Given the description of an element on the screen output the (x, y) to click on. 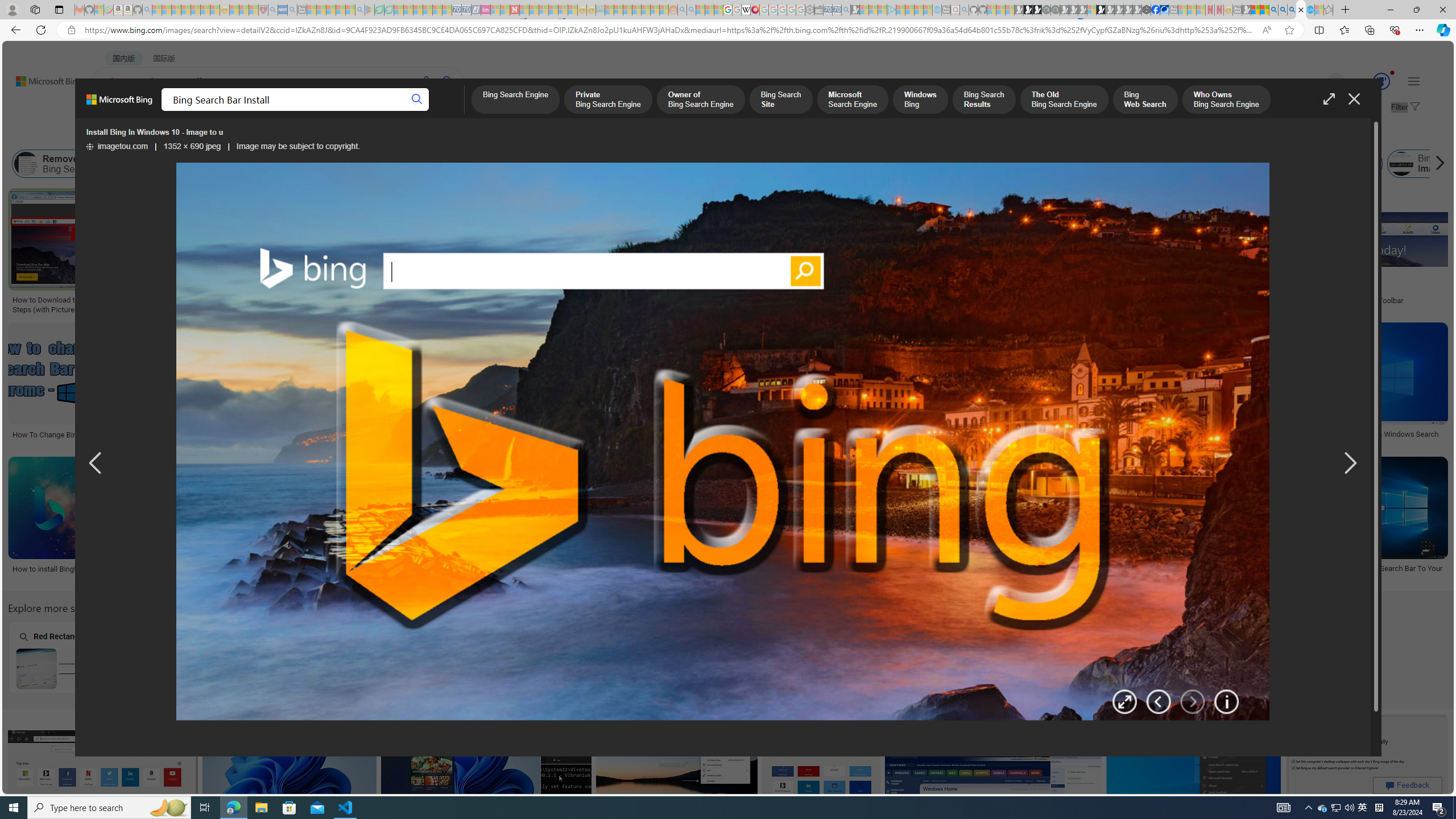
Install Bing Home (1142, 163)
2:33 (824, 466)
Stickers (704, 296)
Install Bing as My Homepage (710, 163)
Microsoft Search Engine (852, 100)
How To Change Bing Search Bar To Google Windows 10 (745, 573)
Enter Key (370, 656)
Dropdown Menu (451, 111)
